Given the description of an element on the screen output the (x, y) to click on. 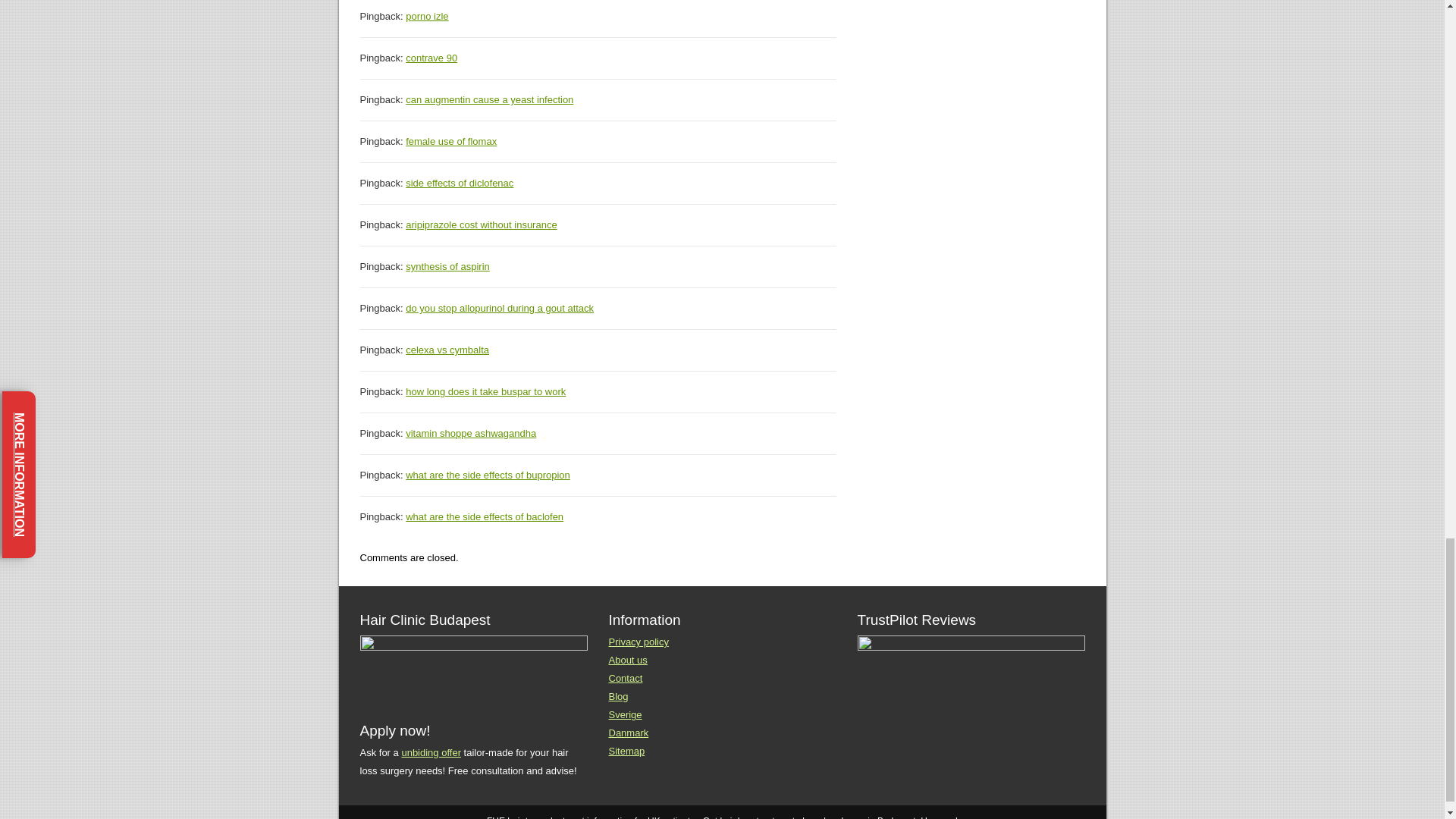
do you stop allopurinol during a gout attack (500, 307)
can augmentin cause a yeast infection (489, 99)
side effects of diclofenac (459, 183)
synthesis of aspirin (447, 266)
porno izle (427, 16)
female use of flomax (451, 141)
contrave 90 (431, 57)
aripiprazole cost without insurance (481, 224)
